Given the description of an element on the screen output the (x, y) to click on. 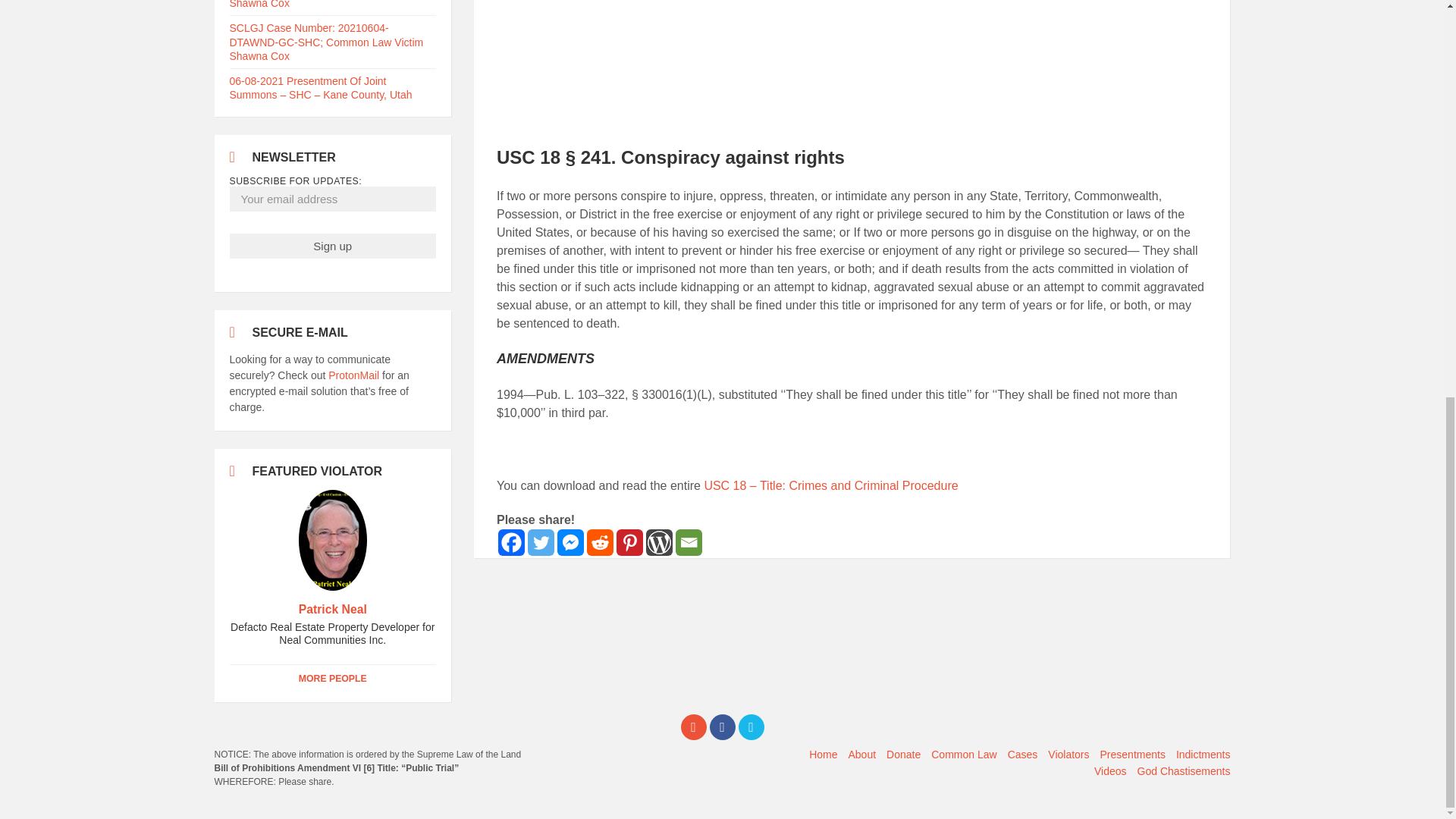
Email (693, 727)
Pinterest (629, 542)
Reddit (599, 542)
Facebook (722, 727)
Social Media Links (722, 727)
WordPress (659, 542)
Twitter (540, 542)
Sign up (331, 245)
Vimeo (751, 727)
Facebook (510, 542)
Email (688, 542)
